Given the description of an element on the screen output the (x, y) to click on. 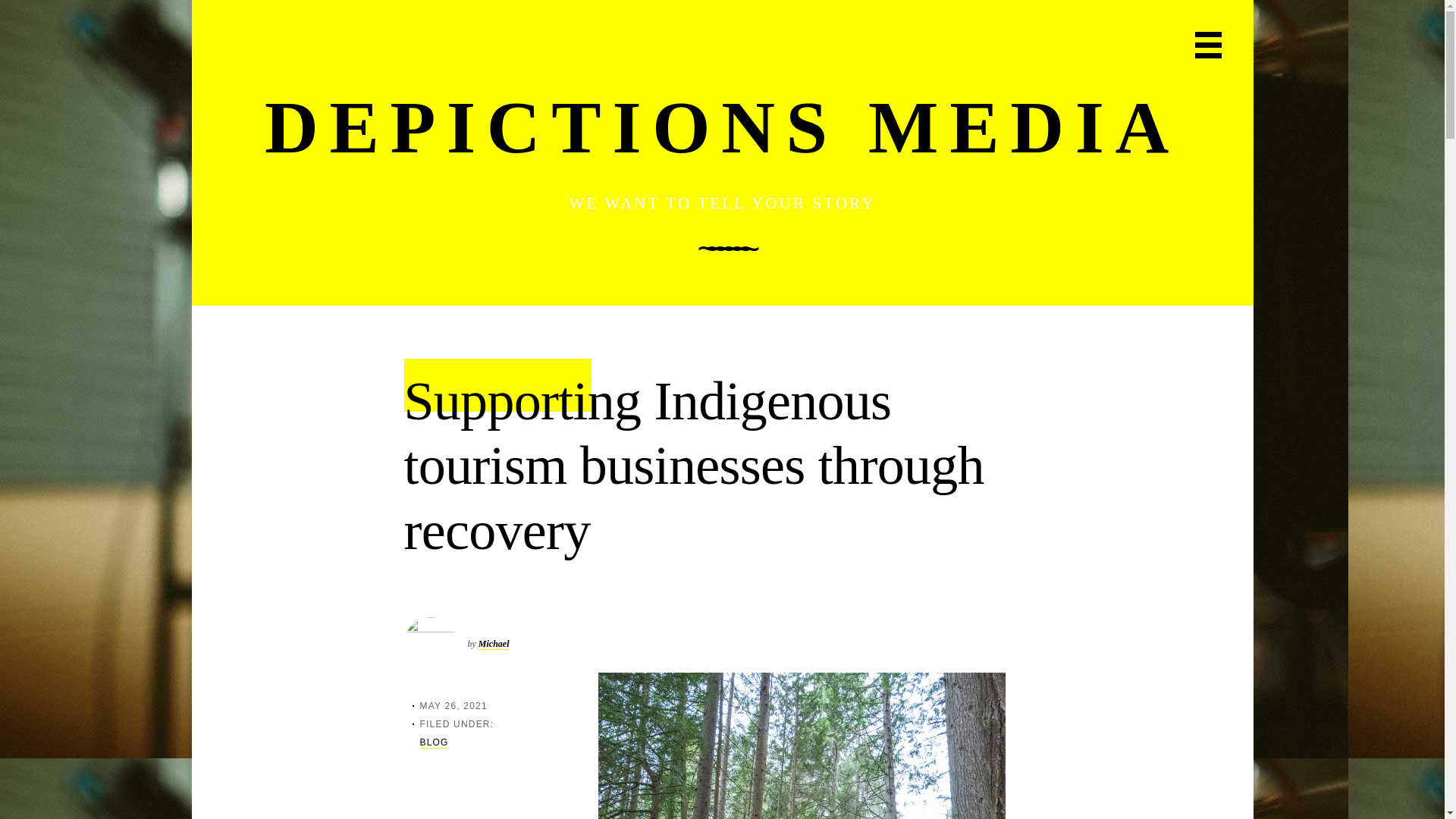
Michael (494, 644)
BLOG (434, 742)
DEPICTIONS MEDIA (721, 127)
MAY 26, 2021 (453, 706)
Primary Navigation Menu (1208, 44)
